Given the description of an element on the screen output the (x, y) to click on. 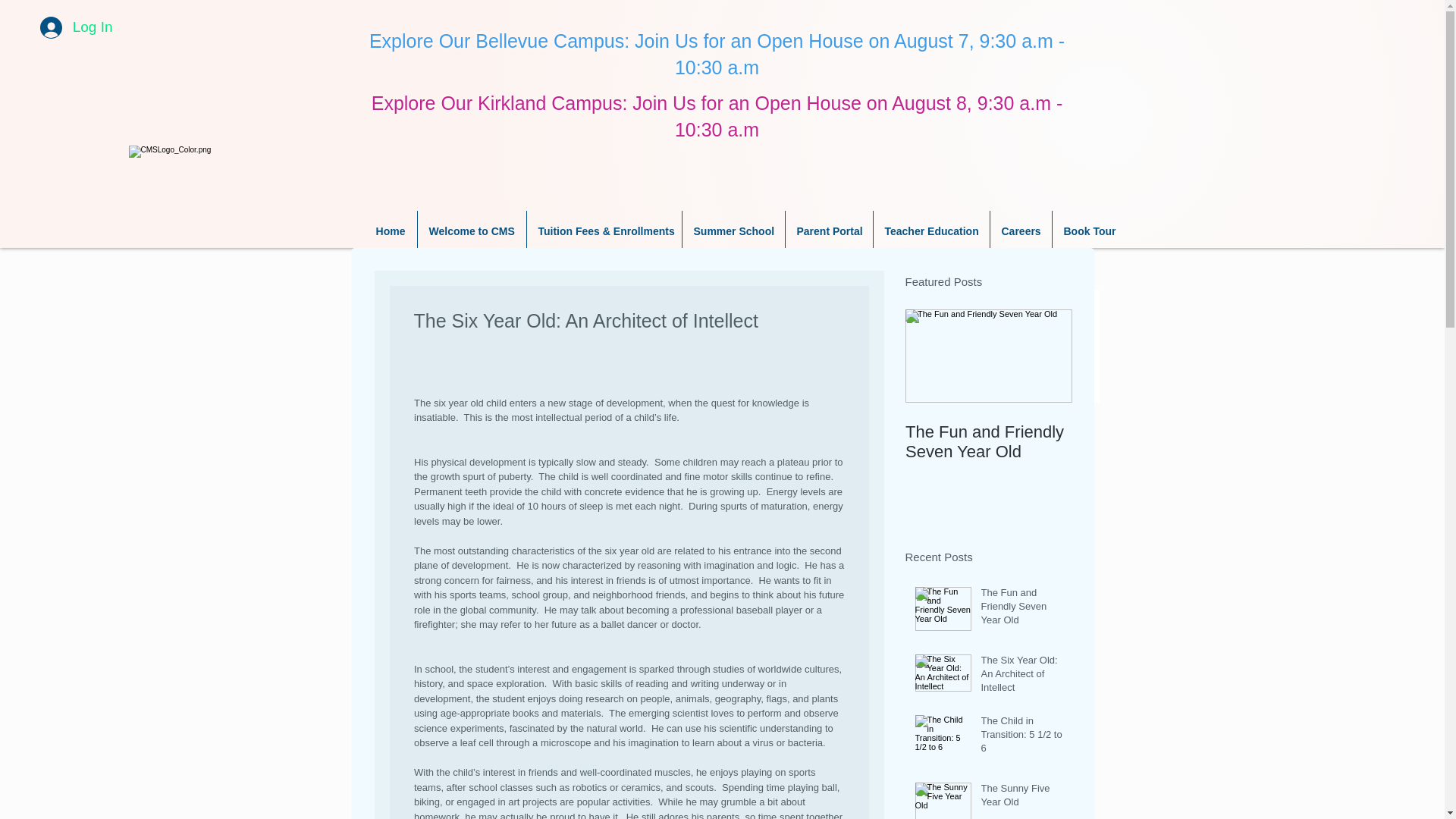
Careers (1020, 231)
Summer School (733, 231)
The Sunny Five Year Old (1021, 798)
Teacher Education (931, 231)
Book Tour (1088, 231)
The Six Year Old: An Architect of Intellect (1021, 677)
Welcome to CMS (470, 231)
The Fun and Friendly Seven Year Old (988, 441)
The Fun and Friendly Seven Year Old (1021, 609)
Home (390, 231)
Parent Portal (829, 231)
Log In (76, 27)
